Given the description of an element on the screen output the (x, y) to click on. 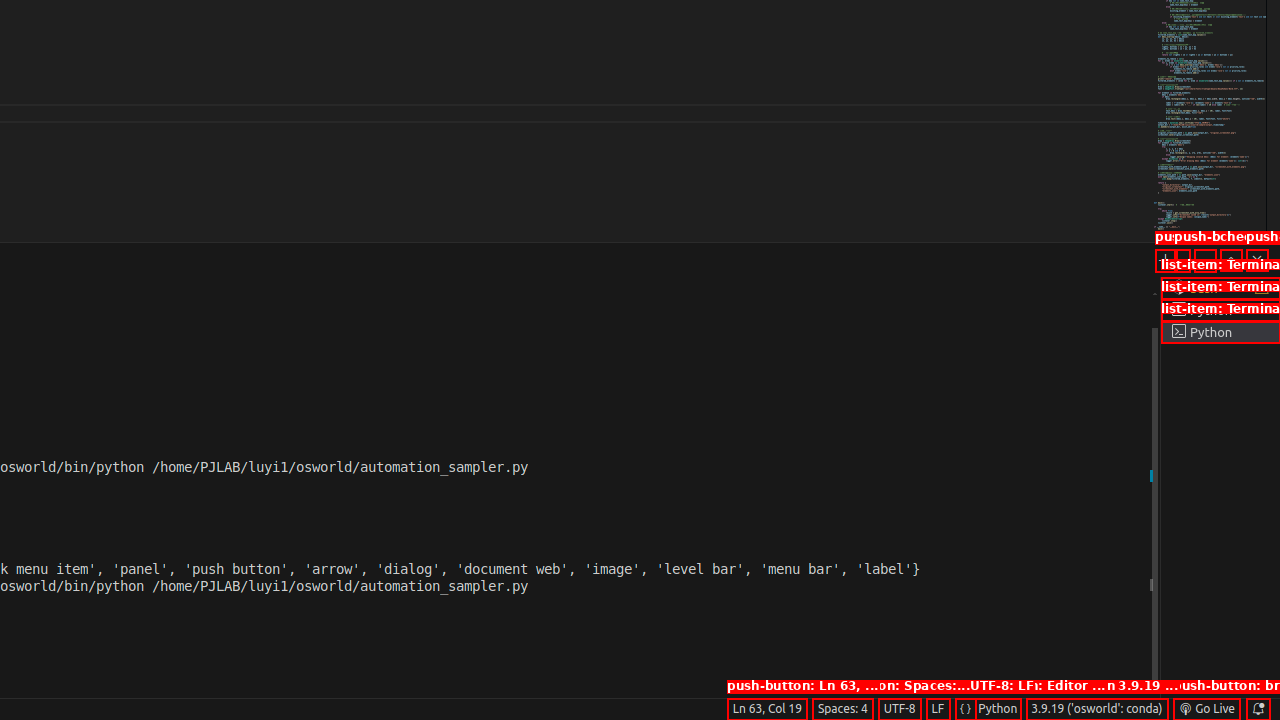
Terminal 1 bash Element type: list-item (1220, 288)
Hide Panel Element type: push-button (1257, 260)
Spaces: 4 Element type: push-button (842, 709)
Ln 63, Col 19 Element type: push-button (767, 709)
Editor Language Status: Auto Import Completions: false, next: Type Checking: off Element type: push-button (965, 709)
